Given the description of an element on the screen output the (x, y) to click on. 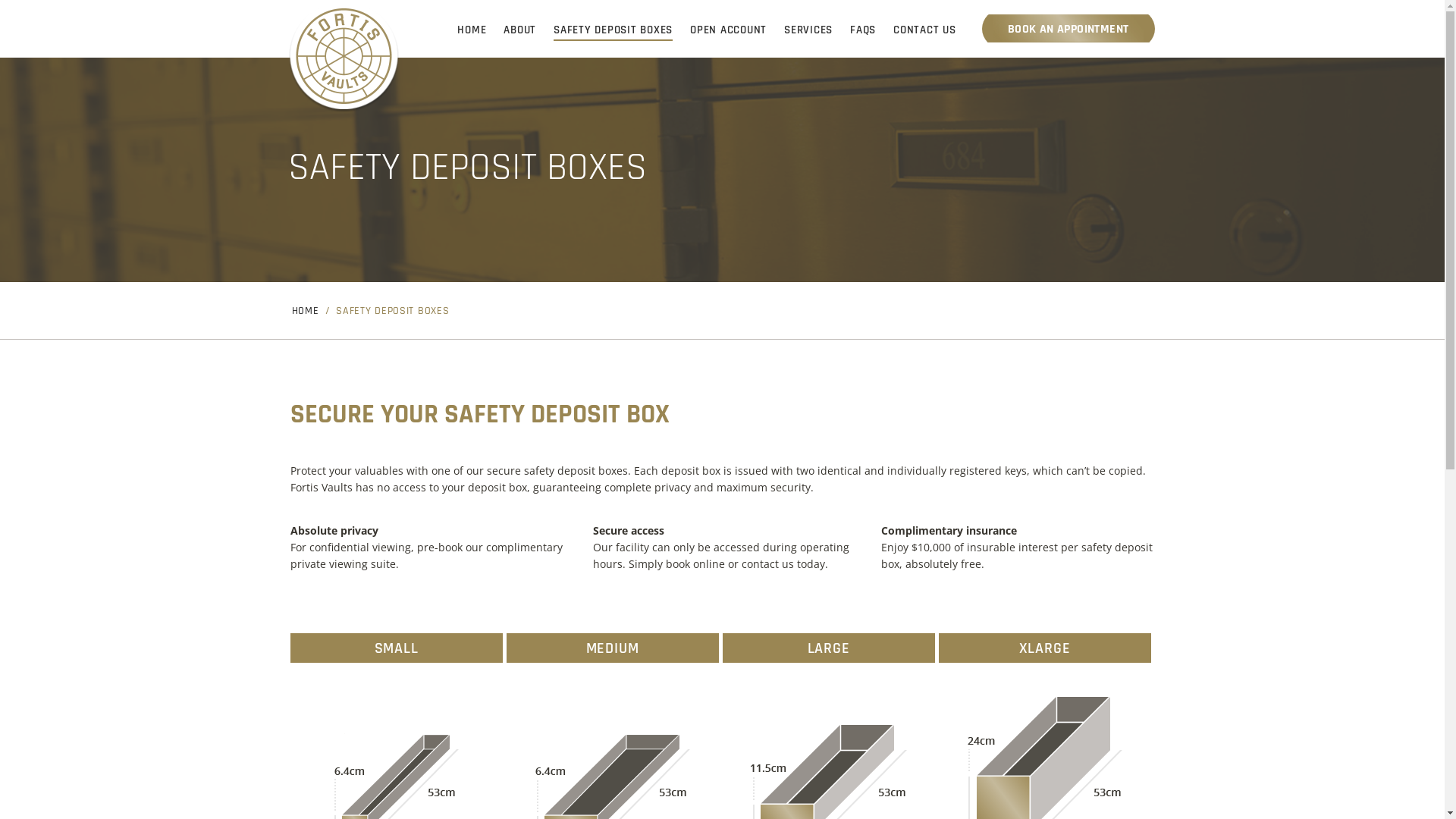
ABOUT Element type: text (519, 29)
OPEN ACCOUNT Element type: text (728, 29)
CONTACT US Element type: text (924, 29)
SERVICES Element type: text (808, 29)
HOME Element type: text (304, 311)
SAFETY DEPOSIT BOXES Element type: text (612, 29)
SAFETY DEPOSIT BOXES Element type: text (391, 311)
BOOK AN APPOINTMENT Element type: text (1068, 28)
FAQS Element type: text (862, 29)
HOME Element type: text (471, 29)
